Given the description of an element on the screen output the (x, y) to click on. 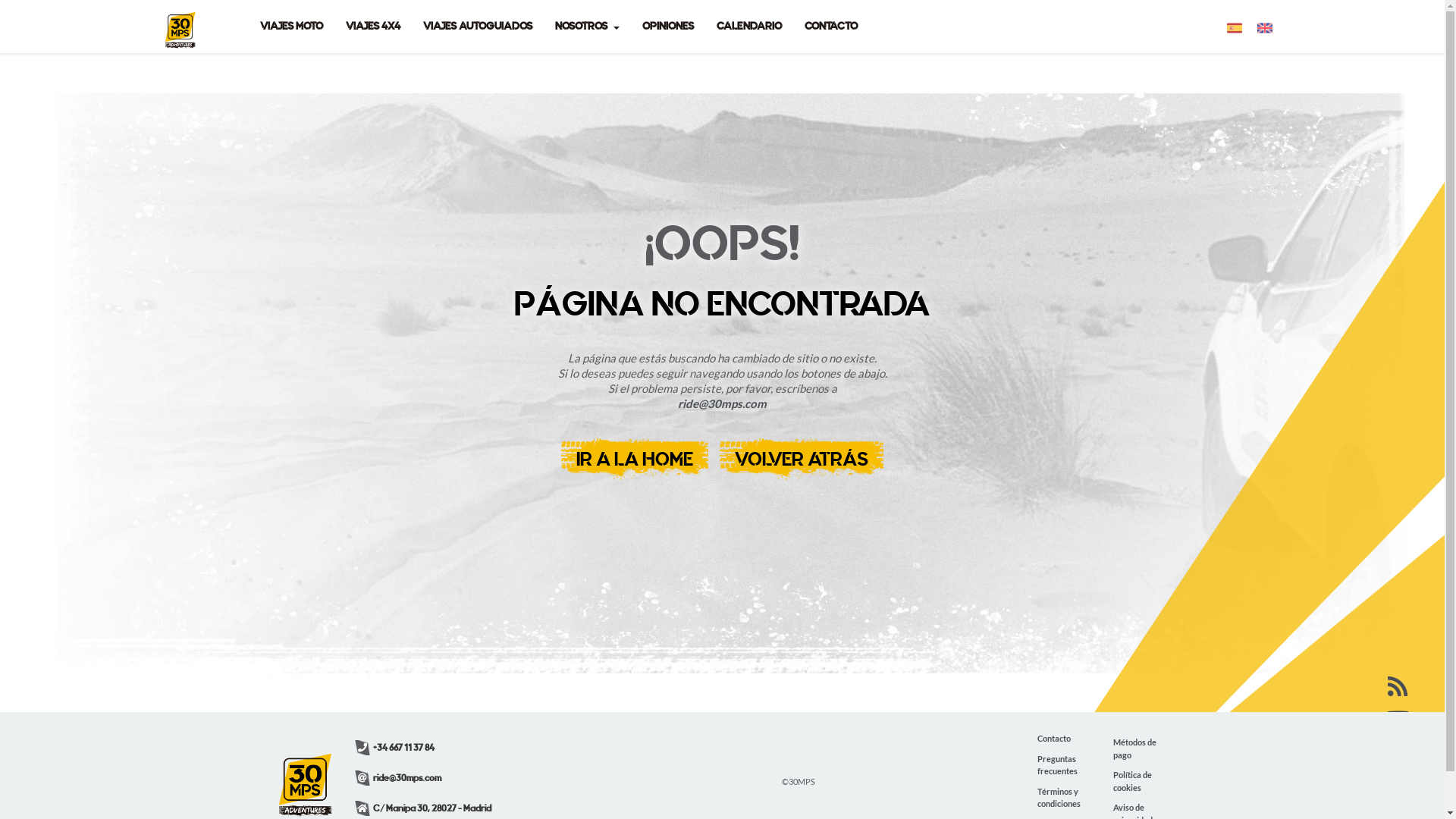
Youtube Element type: hover (1397, 720)
Preguntas frecuentes Element type: text (1063, 764)
OPINIONES Element type: text (667, 26)
30mps Adventures Element type: hover (179, 19)
CONTACTO Element type: text (831, 26)
Facebook Element type: hover (1397, 754)
contactar por whatsapp Element type: hover (37, 781)
Contacto Element type: text (1053, 738)
ride@30mps.com Element type: text (721, 403)
VIAJES MOTO Element type: text (291, 26)
NOSOTROS   Element type: text (586, 26)
VIAJES AUTOGUIADOS Element type: text (476, 26)
  ride@30mps.com Element type: text (397, 777)
  C/ Manipa 30, 28027 - Madrid Element type: text (422, 807)
english Element type: hover (1264, 27)
VIAJES 4X4 Element type: text (372, 26)
CALENDARIO Element type: text (749, 26)
IR A LA HOME Element type: text (634, 458)
  +34 667 11 37 84 Element type: text (394, 747)
Instagram Element type: hover (1397, 788)
